Given the description of an element on the screen output the (x, y) to click on. 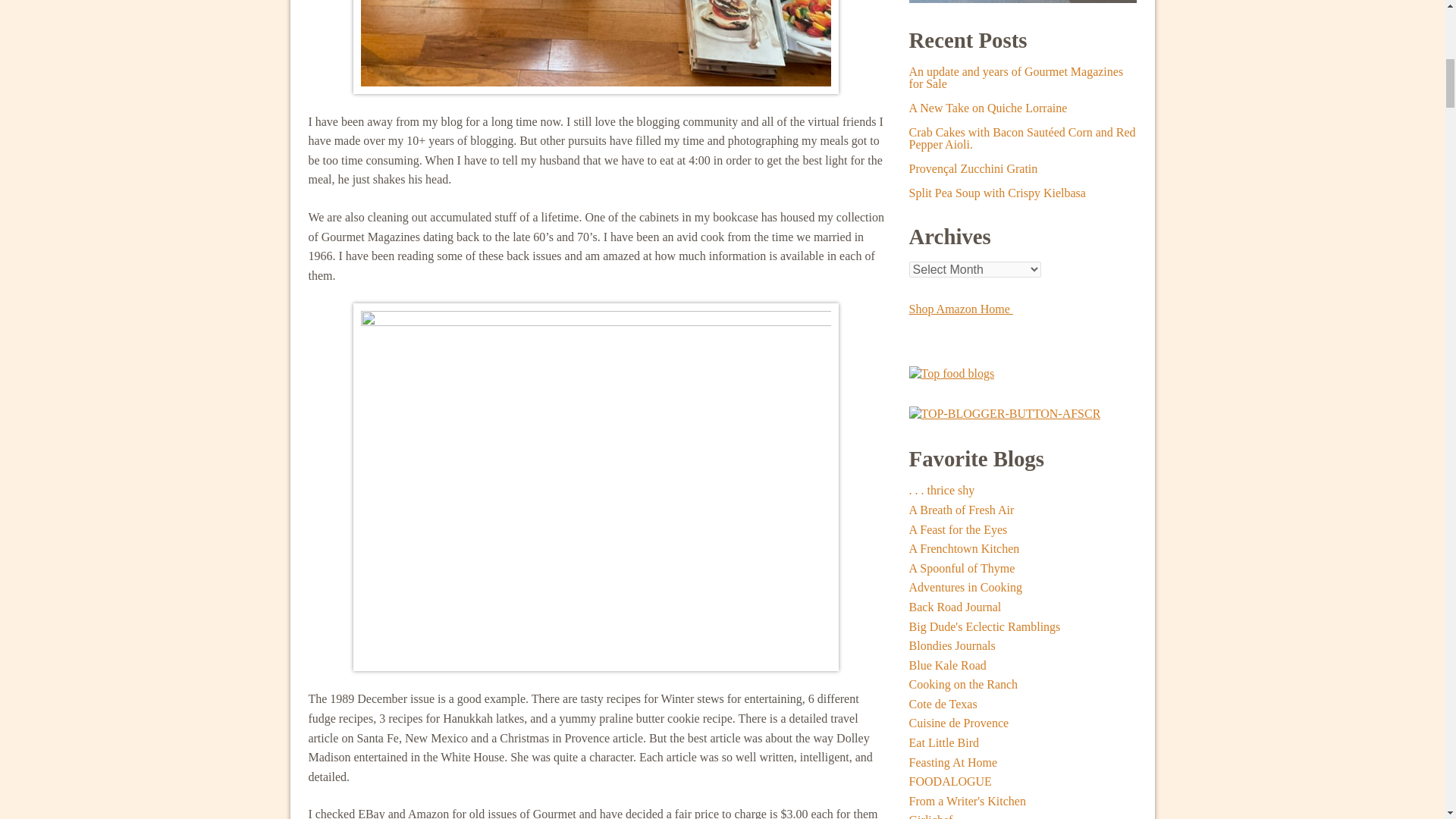
Search for recipes on Mytaste.com (951, 372)
